Given the description of an element on the screen output the (x, y) to click on. 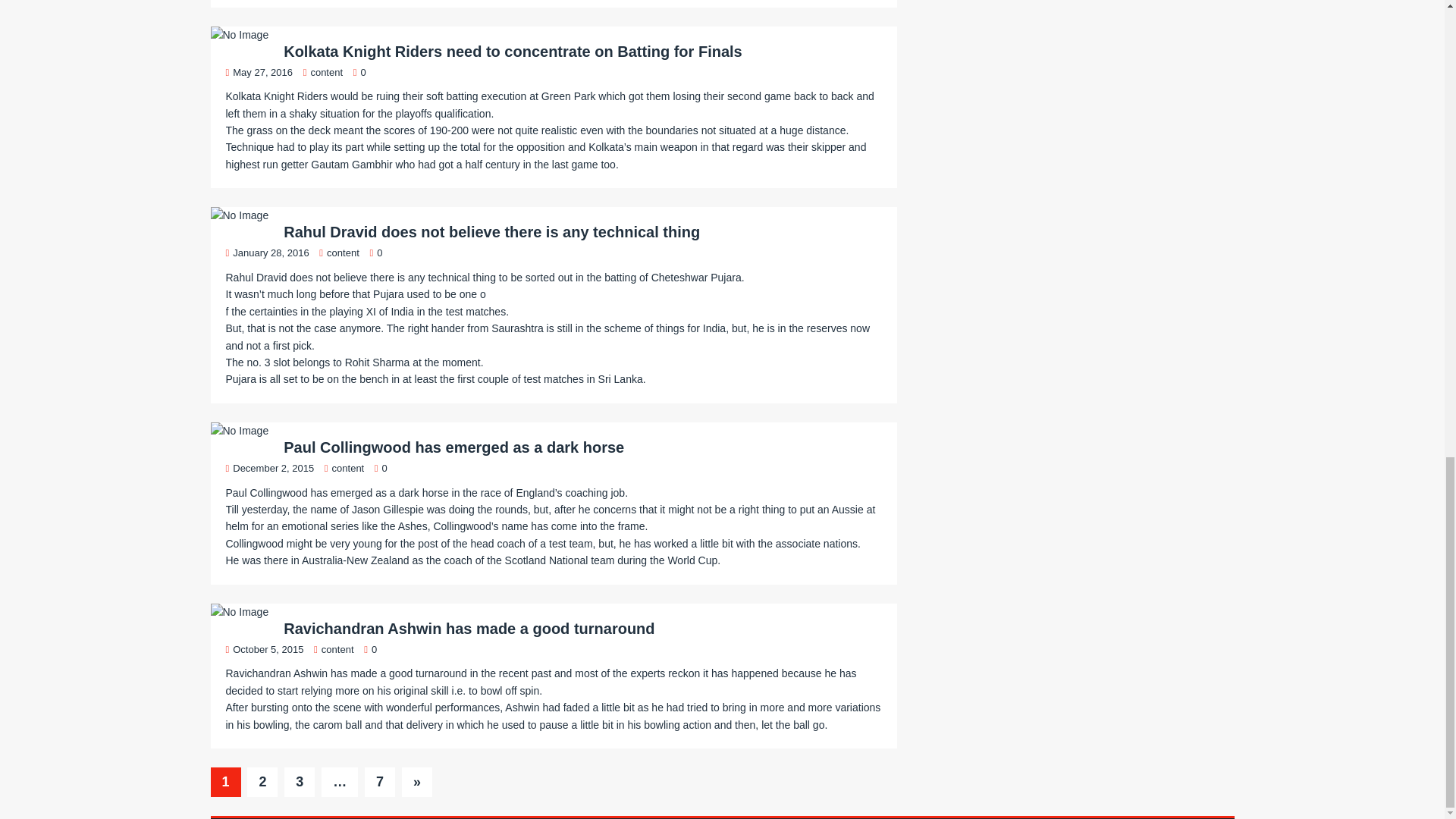
content (342, 252)
content (326, 71)
Rahul Dravid does not believe there is any technical thing (491, 231)
